Given the description of an element on the screen output the (x, y) to click on. 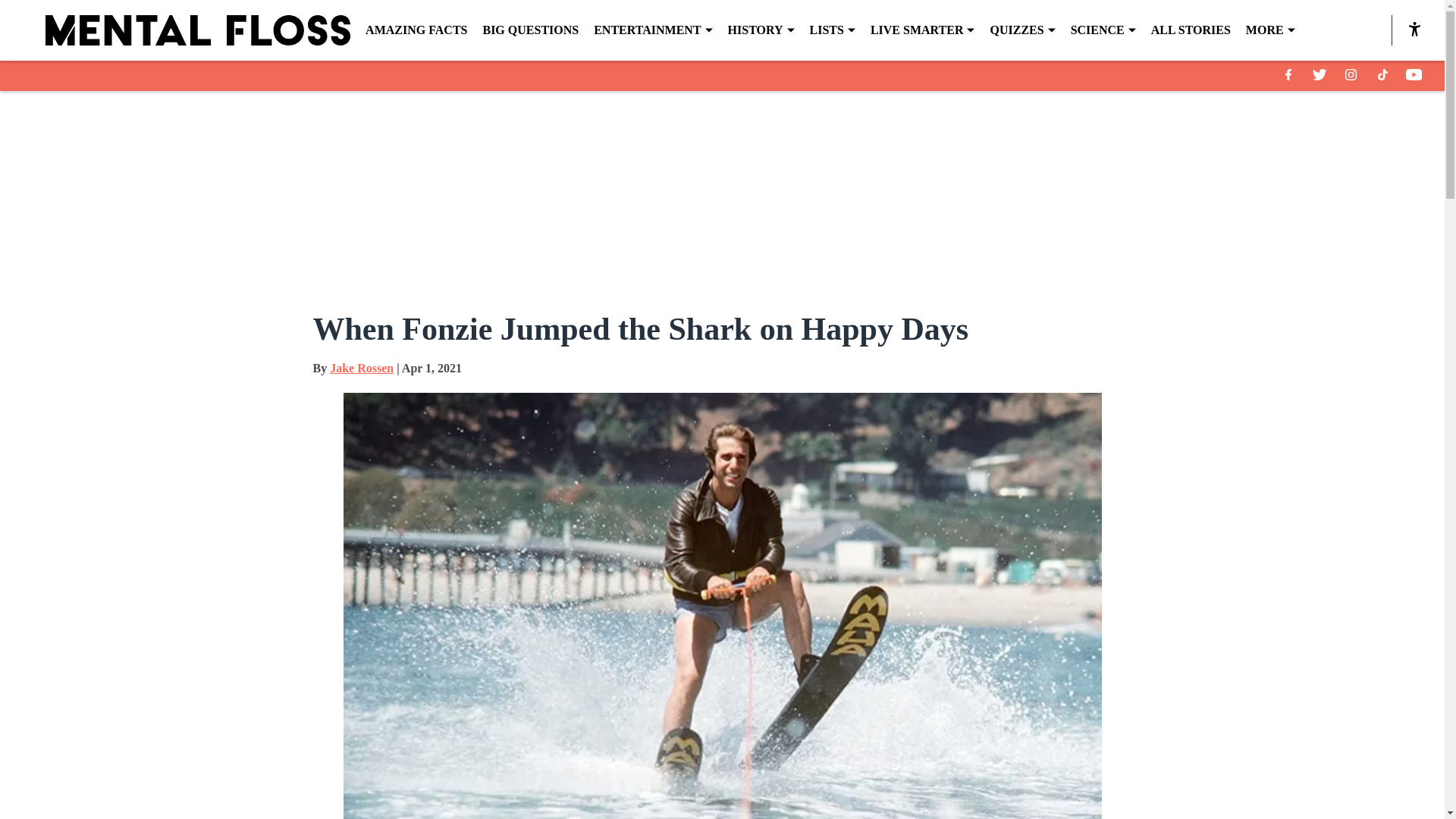
BIG QUESTIONS (529, 30)
AMAZING FACTS (416, 30)
ALL STORIES (1190, 30)
MORE (1270, 30)
